Given the description of an element on the screen output the (x, y) to click on. 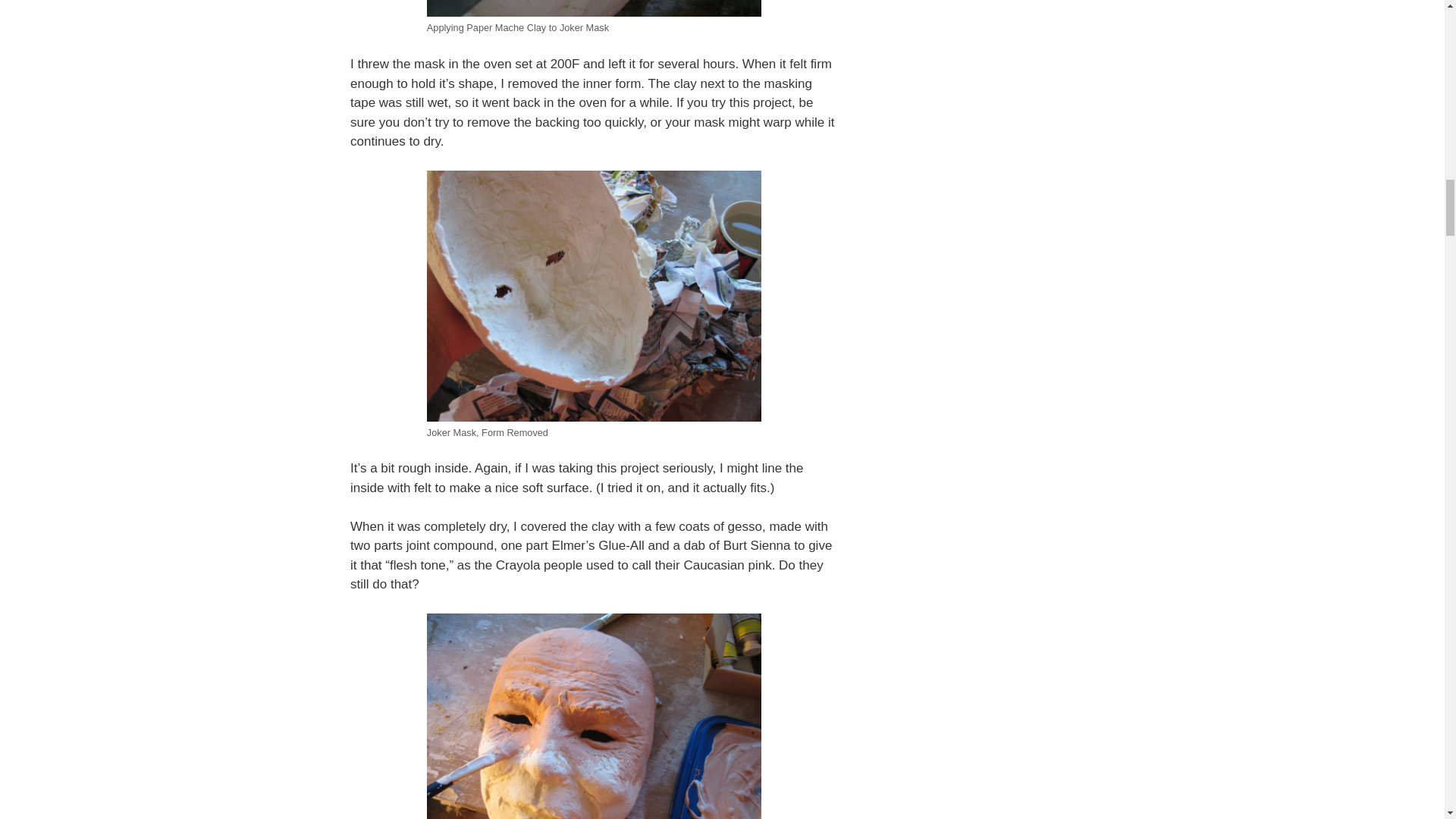
Applying Paper Mache Clay to Joker Mask (593, 8)
Adding Gesso to Joker Mask (593, 716)
Joker Mask, Form Removed (593, 295)
